Given the description of an element on the screen output the (x, y) to click on. 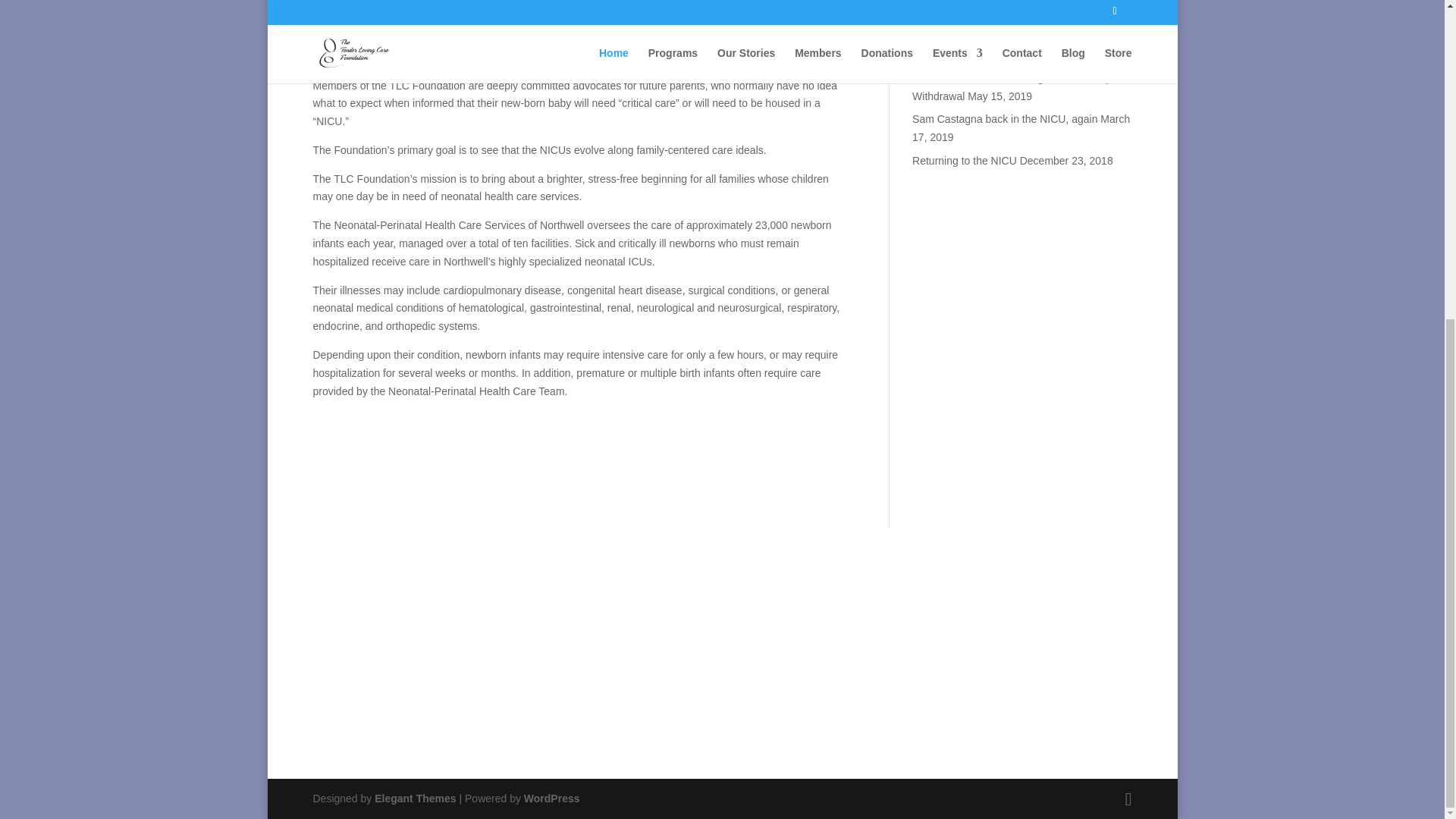
WordPress (551, 798)
Sam Castagna back in the NICU, again (1004, 119)
Premium WordPress Themes (414, 798)
Donate Now (721, 674)
Elegant Themes (414, 798)
Returning to the NICU (964, 160)
